Given the description of an element on the screen output the (x, y) to click on. 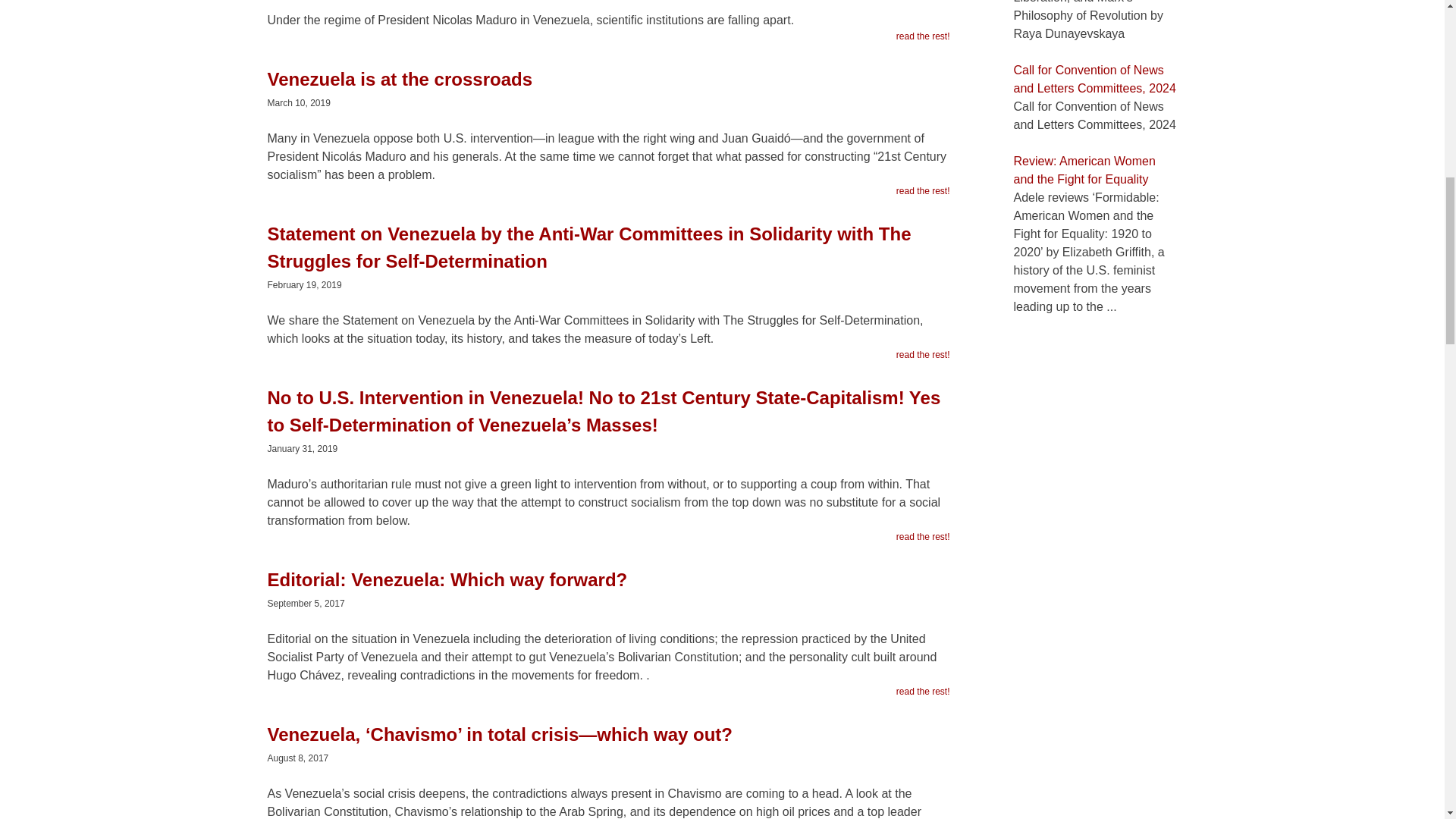
read the rest! (923, 691)
read the rest! (923, 354)
Editorial: Venezuela: Which way forward? (607, 587)
read the rest! (923, 536)
read the rest! (923, 191)
Venezuela is at the crossroads (607, 87)
read the rest! (923, 36)
